Given the description of an element on the screen output the (x, y) to click on. 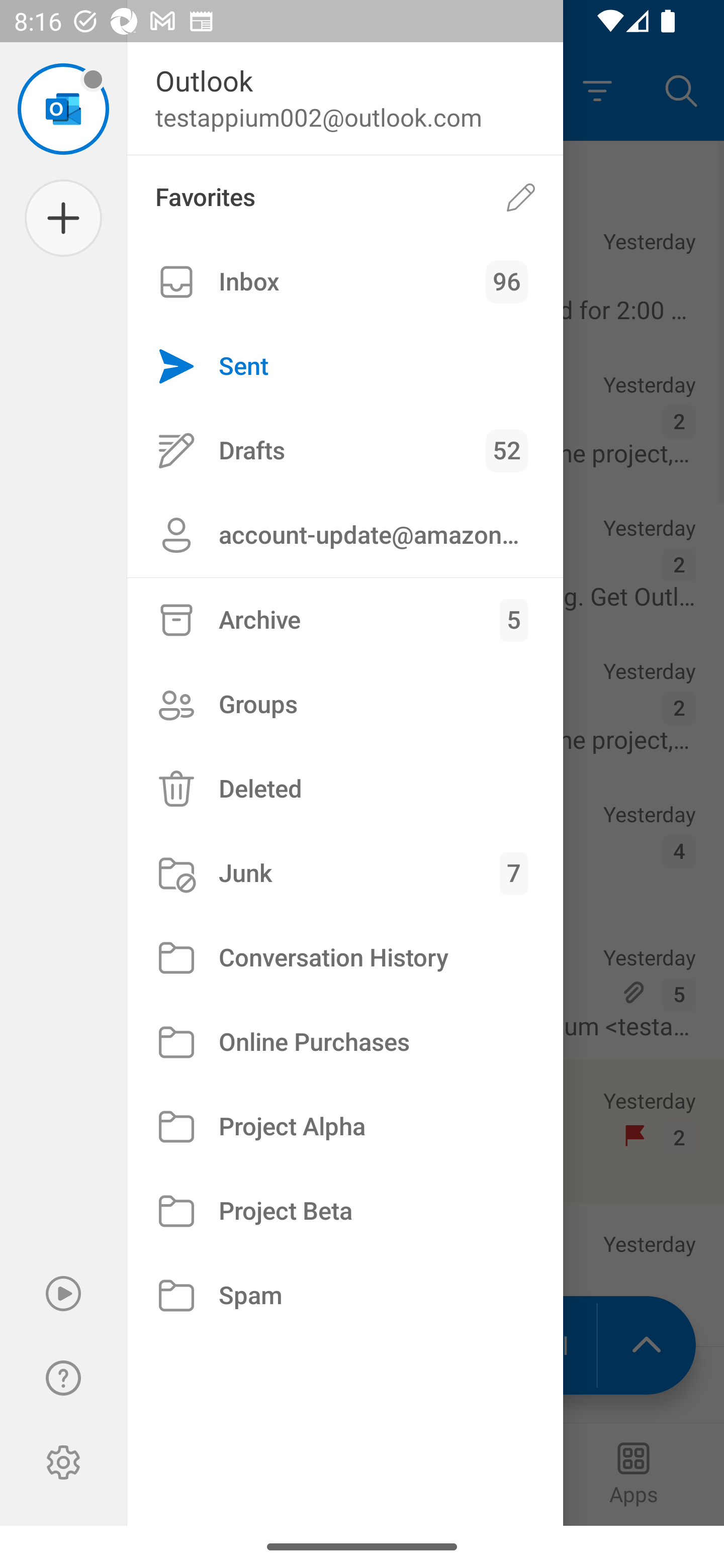
Edit favorites (520, 197)
Add account (63, 217)
Inbox Inbox, 96 unread emails (345, 281)
Sent Sent,Selected (345, 366)
Drafts Drafts, 52 unread emails (345, 450)
account-update@amazon.com (345, 534)
Archive Archive, 2 of 10, level 1, 5 unread emails (345, 619)
Groups Groups, 3 of 10, level 1 (345, 703)
Deleted Deleted, 4 of 10, level 1 (345, 788)
Junk Junk, 5 of 10, level 1, 7 unread emails (345, 873)
Project Alpha Project Alpha, 8 of 10, level 1 (345, 1127)
Project Beta Project Beta, 9 of 10, level 1 (345, 1210)
Play My Emails (62, 1293)
Spam Spam, 10 of 10, level 1 (345, 1294)
Help (62, 1377)
Settings (62, 1462)
